Given the description of an element on the screen output the (x, y) to click on. 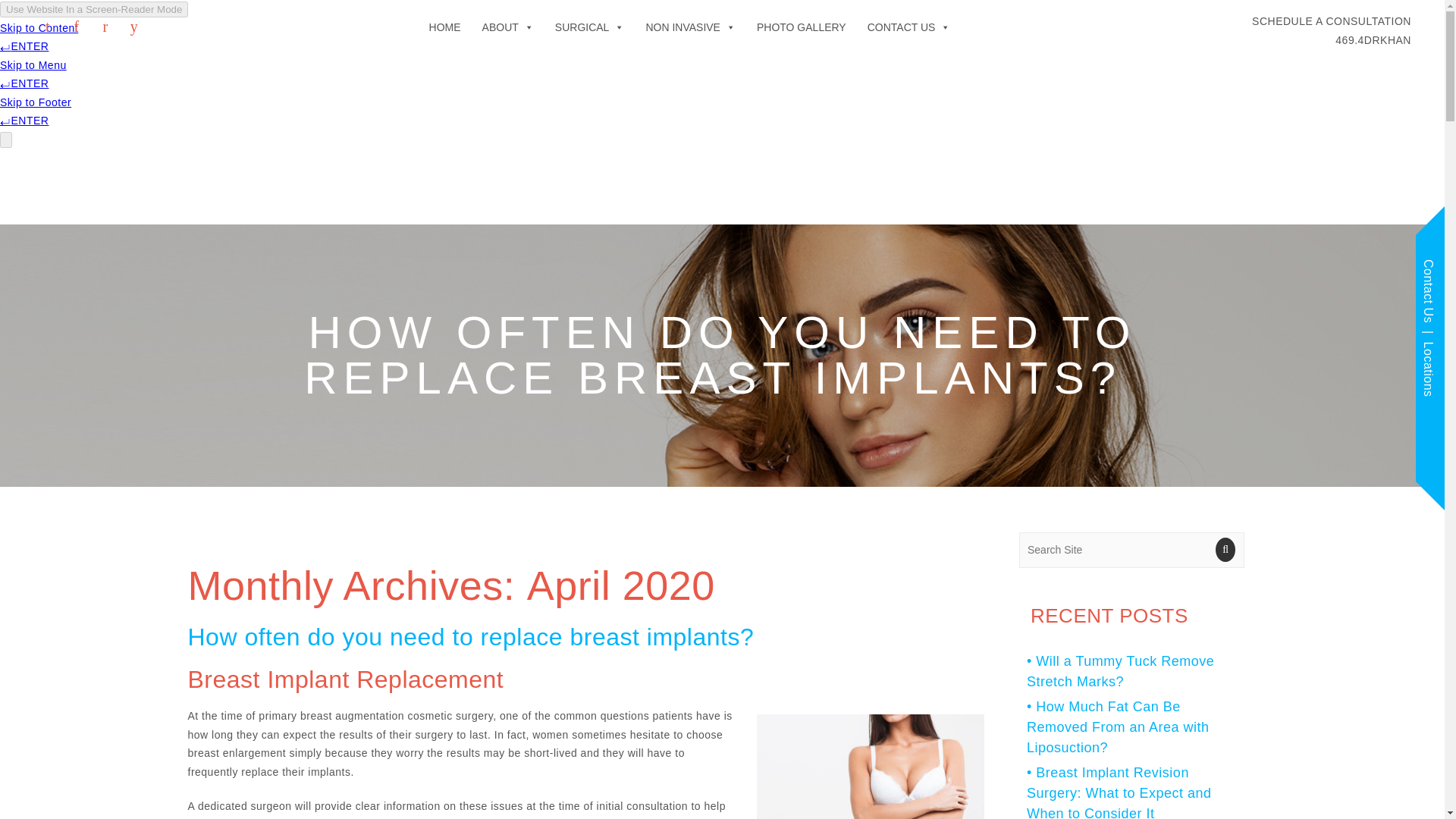
NON INVASIVE (689, 27)
HOME (1331, 30)
ABOUT (445, 27)
SURGICAL (507, 27)
